Given the description of an element on the screen output the (x, y) to click on. 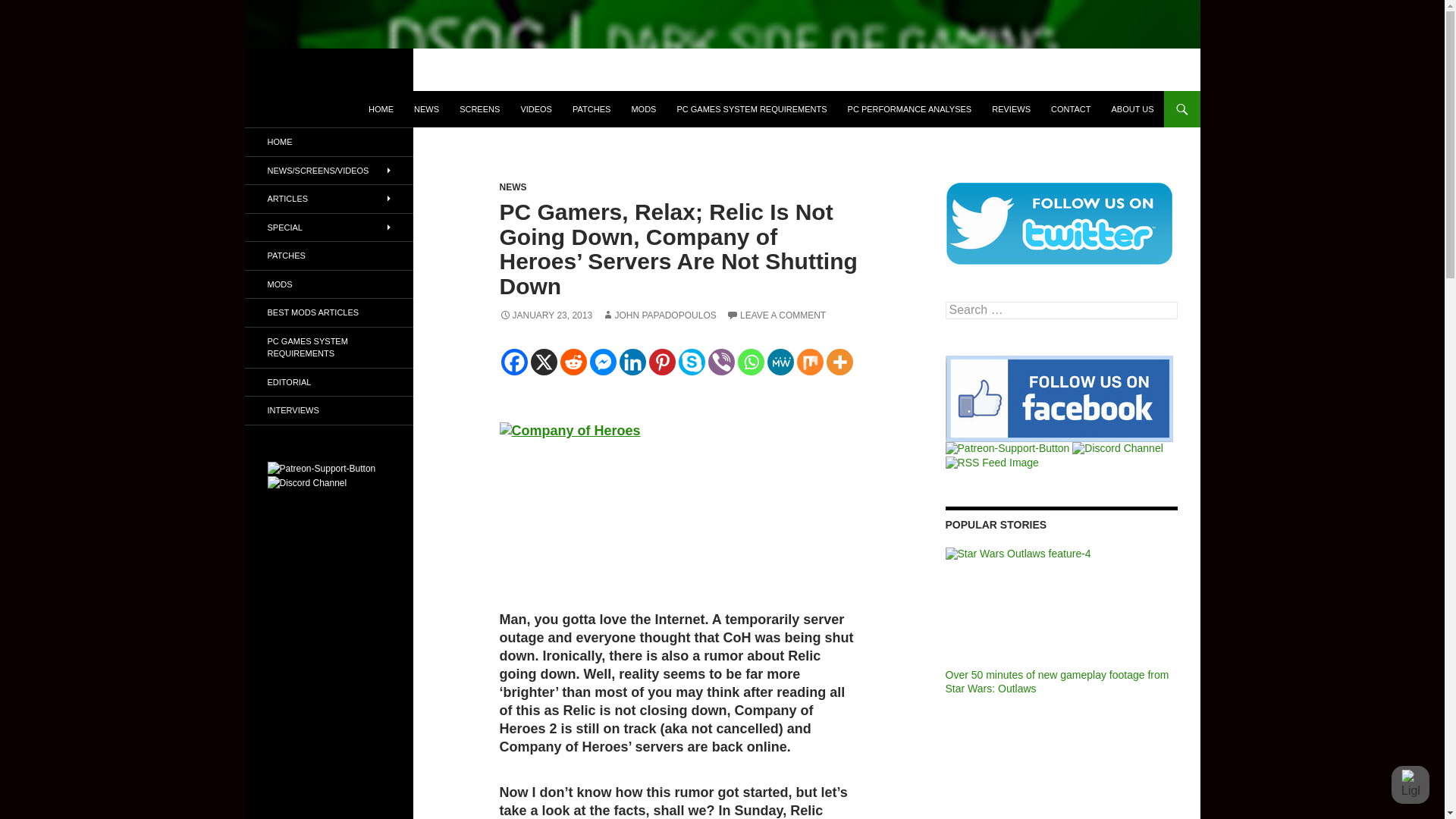
Viber (721, 361)
DSOGaming (306, 108)
X (544, 361)
Reddit (572, 361)
SCREENS (478, 108)
Skype (691, 361)
REVIEWS (1010, 108)
NEWS (426, 108)
More (840, 361)
Facebook (513, 361)
HOME (381, 108)
PC GAMES SYSTEM REQUIREMENTS (750, 108)
MODS (643, 108)
LEAVE A COMMENT (775, 315)
